Given the description of an element on the screen output the (x, y) to click on. 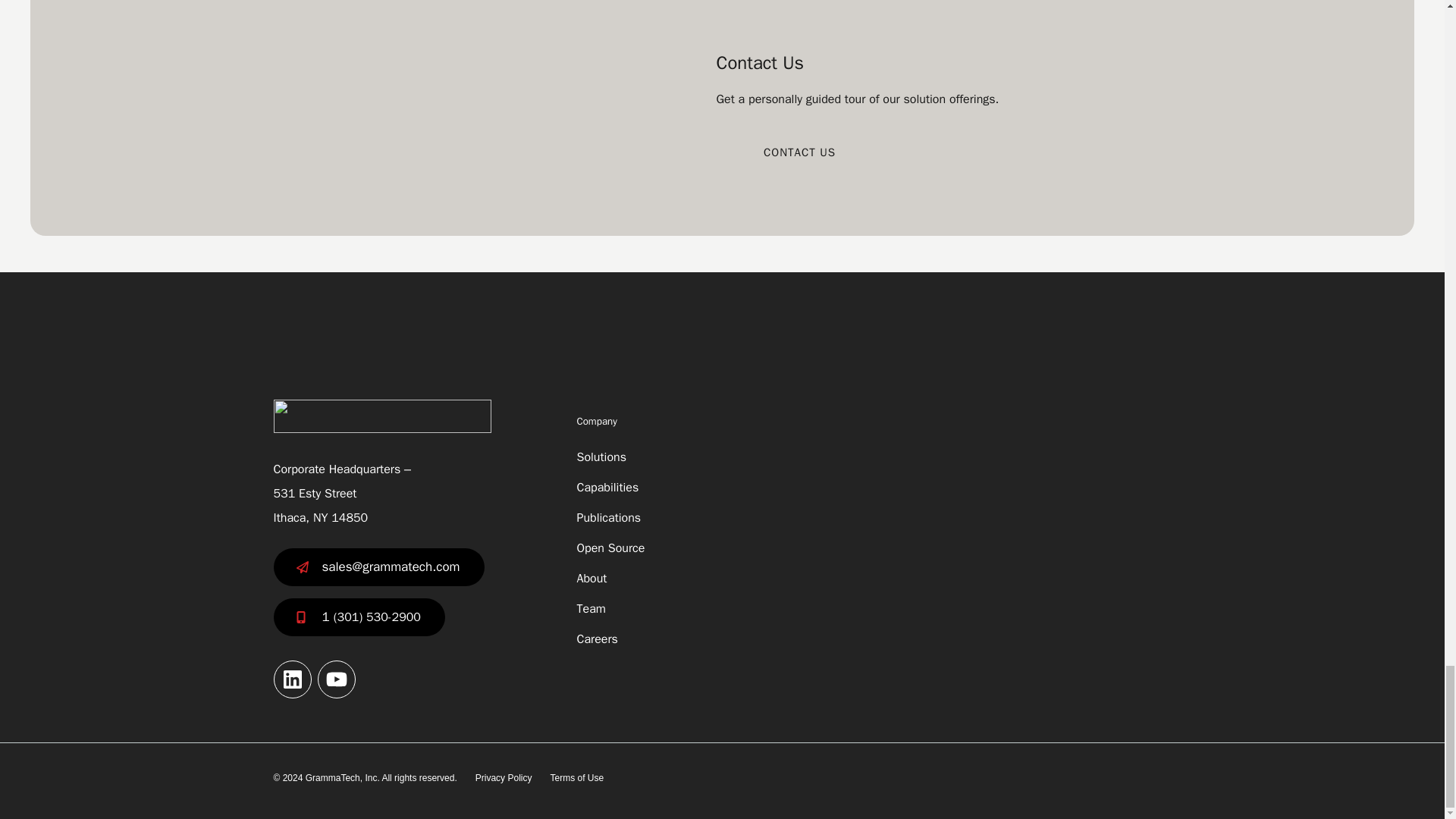
CONTACT US (799, 152)
